Given the description of an element on the screen output the (x, y) to click on. 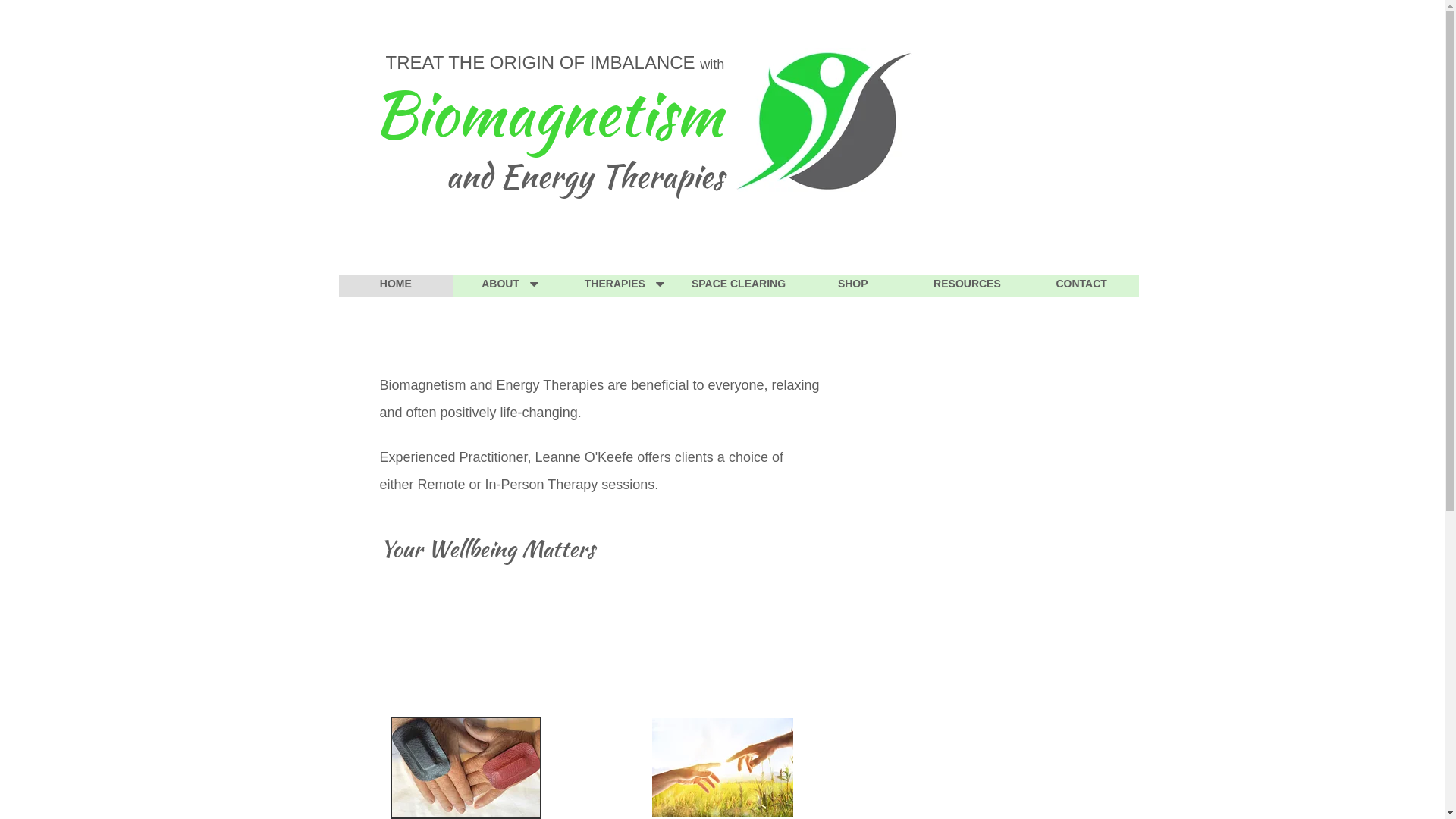
CONTACT Element type: text (1081, 285)
SHOP Element type: text (852, 285)
ABOUT Element type: text (509, 285)
THERAPIES Element type: text (624, 285)
RESOURCES Element type: text (967, 285)
HOME Element type: text (395, 285)
SPACE CLEARING Element type: text (738, 285)
